Given the description of an element on the screen output the (x, y) to click on. 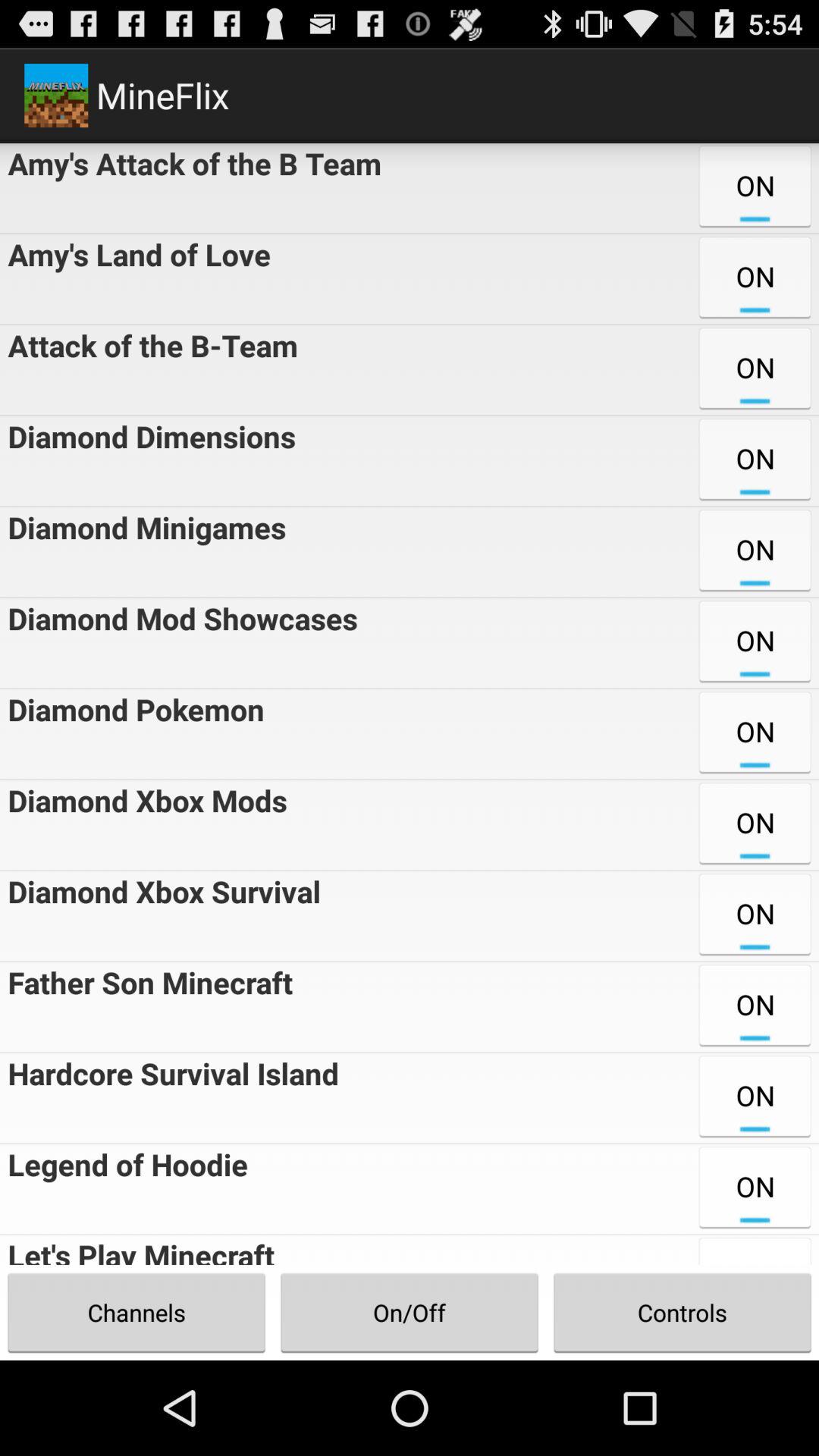
turn off the diamond pokemon app (132, 734)
